Given the description of an element on the screen output the (x, y) to click on. 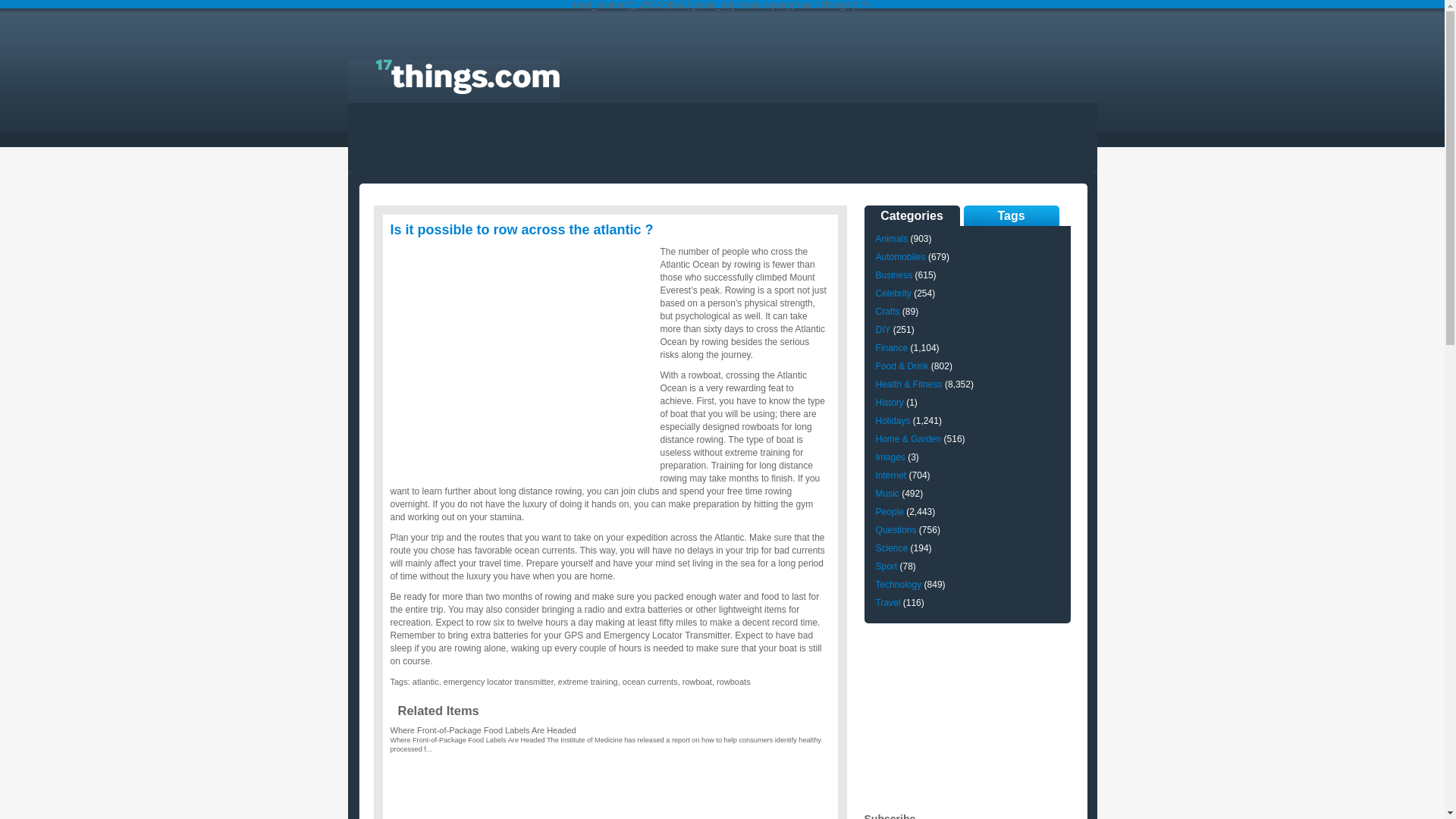
Travel Element type: text (887, 602)
rowboat Element type: text (697, 681)
Automobiles Element type: text (900, 256)
Is it possible to row across the atlantic ? Element type: text (520, 229)
Holidays Element type: text (892, 420)
Finance Element type: text (891, 347)
Animals Element type: text (891, 238)
Music Element type: text (886, 493)
Where Front-of-Package Food Labels Are Headed Element type: text (482, 729)
Celebrity Element type: text (892, 293)
DIY Element type: text (882, 329)
Images Element type: text (889, 456)
Sport Element type: text (886, 566)
Business Element type: text (893, 274)
ocean currents Element type: text (649, 681)
Science Element type: text (891, 547)
Home & Garden Element type: text (908, 438)
Health & Fitness Element type: text (908, 384)
Internet Element type: text (890, 475)
Crafts Element type: text (887, 311)
Food & Drink Element type: text (901, 365)
People Element type: text (889, 511)
extreme training Element type: text (588, 681)
Tags Element type: text (1010, 215)
Questions Element type: text (895, 529)
emergency locator transmitter Element type: text (498, 681)
atlantic Element type: text (425, 681)
History Element type: text (889, 402)
Technology Element type: text (898, 584)
Categories Element type: text (912, 215)
rowboats Element type: text (733, 681)
